Given the description of an element on the screen output the (x, y) to click on. 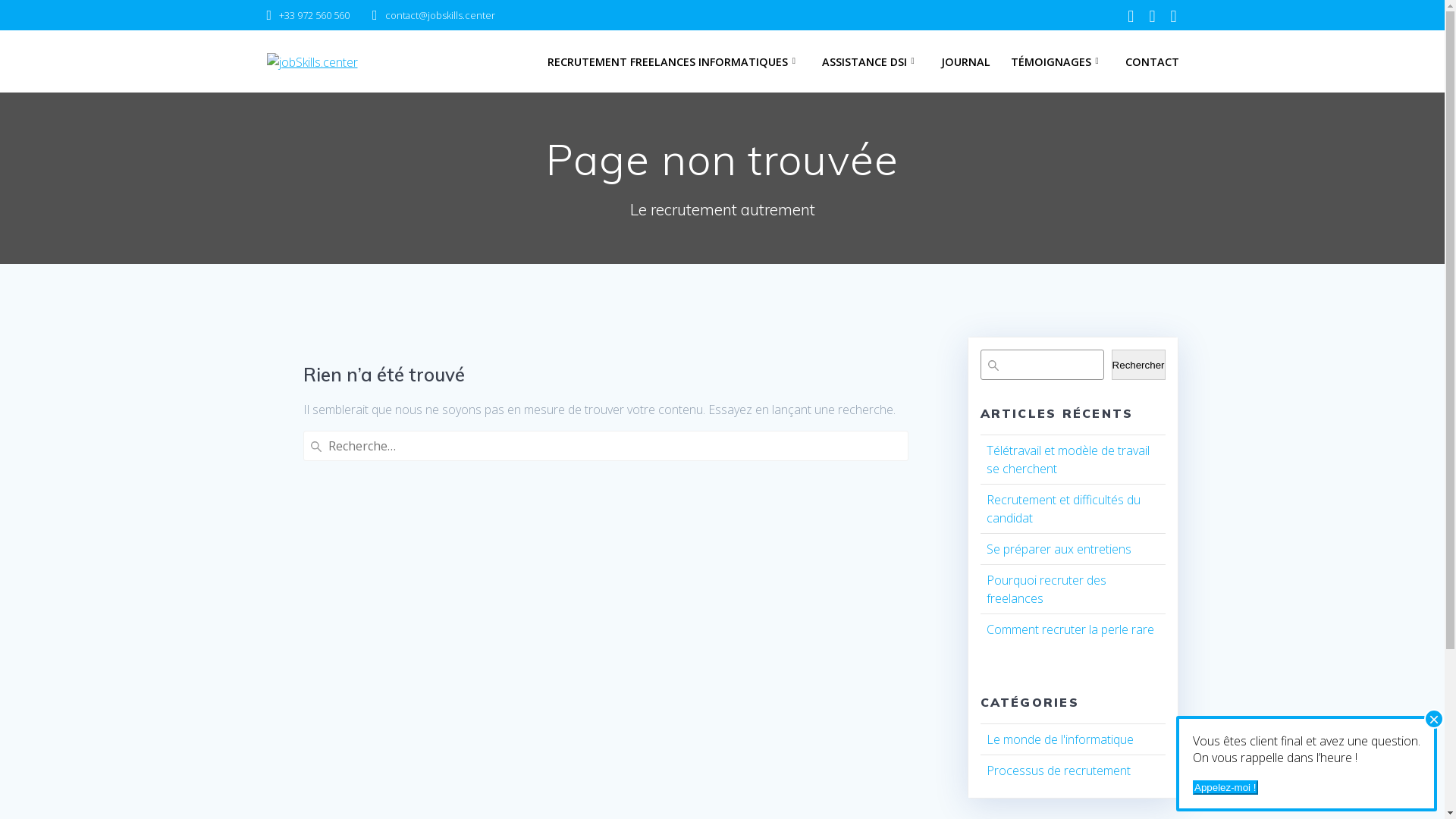
Le monde de l'informatique Element type: text (1058, 739)
Rechercher Element type: text (1138, 364)
JOURNAL Element type: text (965, 61)
RECRUTEMENT FREELANCES INFORMATIQUES Element type: text (674, 61)
ASSISTANCE DSI Element type: text (871, 61)
Pourquoi recruter des freelances Element type: text (1045, 588)
Comment recruter la perle rare Element type: text (1069, 629)
Appelez-moi ! Element type: text (1225, 787)
Processus de recrutement Element type: text (1057, 770)
CONTACT Element type: text (1152, 61)
